Given the description of an element on the screen output the (x, y) to click on. 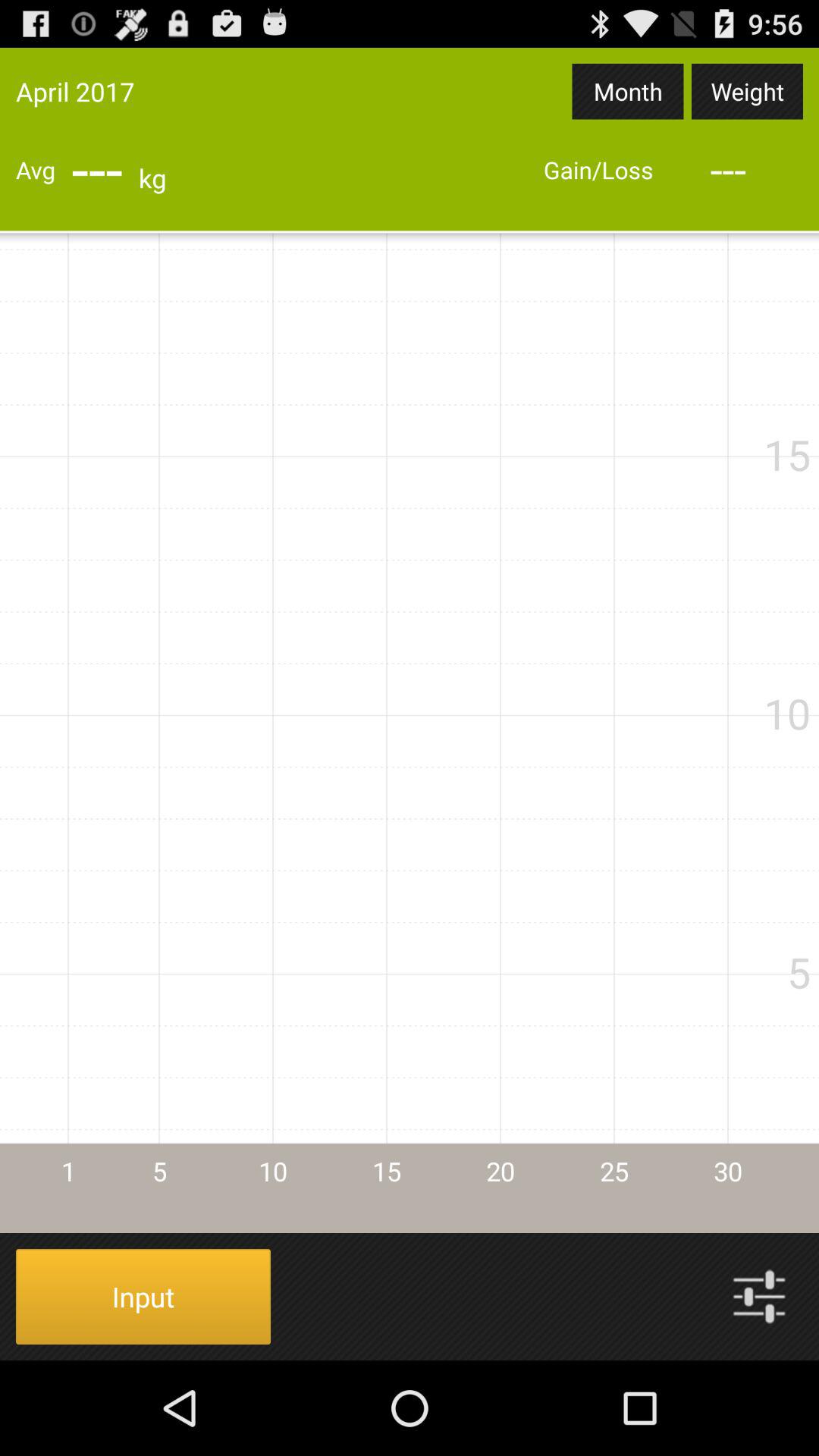
select the item at the bottom left corner (142, 1296)
